Given the description of an element on the screen output the (x, y) to click on. 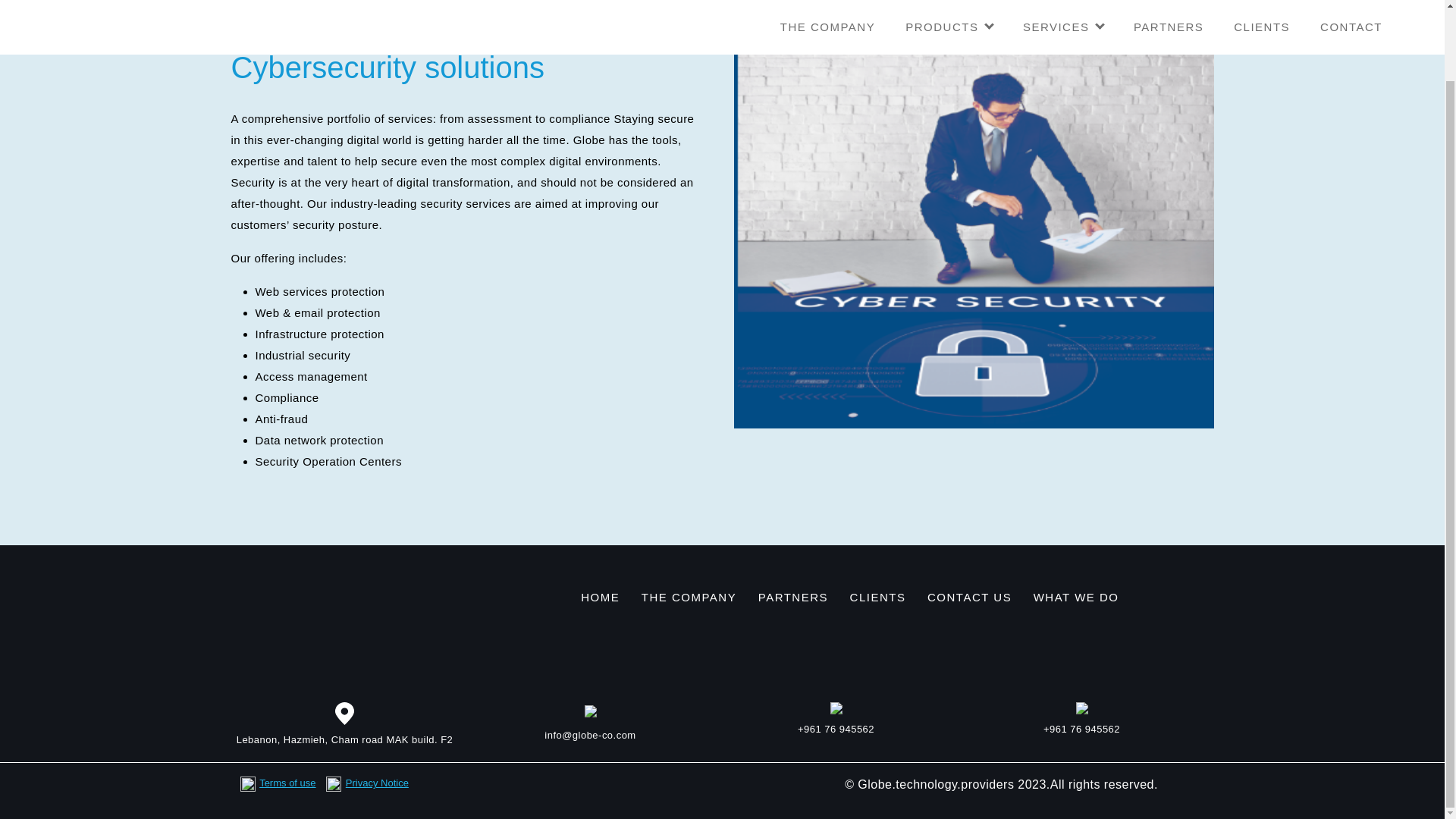
Terms of use (287, 782)
PARTNERS (793, 597)
Cybersecurity solutions (545, 12)
THE COMPANY (688, 597)
Business Process Engineering (707, 12)
CONTACT US (969, 597)
Integration solutions (408, 12)
Privacy Notice (377, 782)
Telecom solutions (287, 12)
CLIENTS (878, 597)
